Given the description of an element on the screen output the (x, y) to click on. 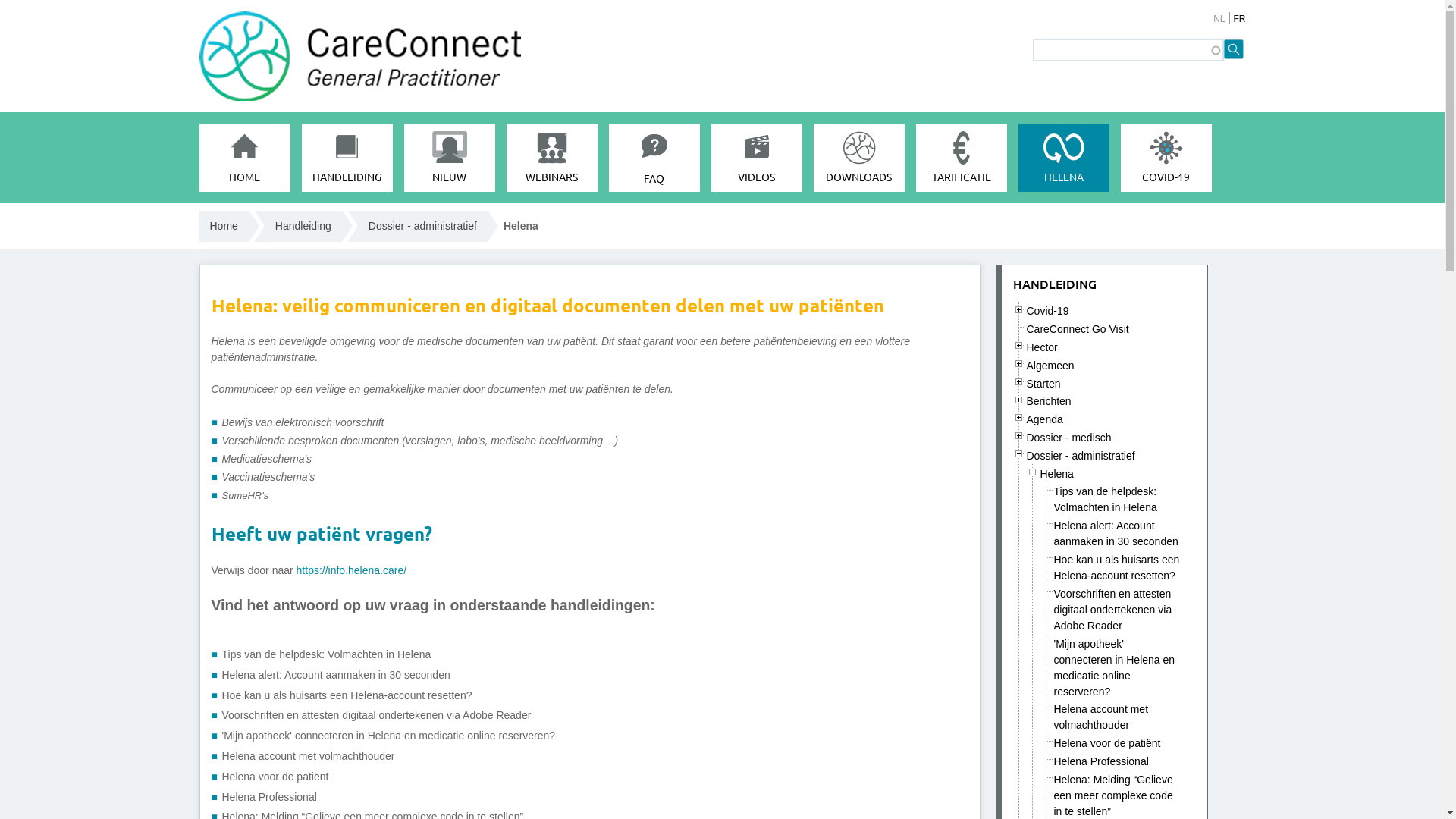
Agenda Element type: text (1044, 419)
  Element type: text (1019, 381)
Tips van de helpdesk: Volmachten in Helena Element type: text (1105, 499)
Helena Professional Element type: text (1101, 761)
Helena Professional Element type: text (268, 796)
Skip to main content Element type: text (658, 0)
  Element type: text (1032, 472)
Toepassen Element type: text (1233, 49)
Home Element type: text (222, 225)
FAQ Element type: text (653, 157)
Algemeen Element type: text (1050, 365)
VIDEOS Element type: text (756, 157)
Berichten Element type: text (1048, 401)
  Element type: text (1019, 399)
CareConnect Go Visit Element type: text (1077, 329)
TARIFICATIE Element type: text (961, 157)
Helena account met volmachthouder Element type: text (1101, 716)
HANDLEIDING Element type: text (1054, 283)
Helena Element type: text (1056, 473)
  Element type: text (1019, 363)
Starten Element type: text (1043, 383)
Dossier - administratief Element type: text (422, 225)
HANDLEIDING Element type: text (346, 157)
Tips van de helpdesk: Volmachten in Helena Element type: text (325, 654)
WEBINARS Element type: text (551, 157)
Hoe kan u als huisarts een Helena-account resetten? Element type: text (346, 695)
  Element type: text (1019, 417)
HOME Element type: text (243, 157)
Hoe kan u als huisarts een Helena-account resetten? Element type: text (1116, 567)
NL Element type: text (1218, 18)
Helena alert: Account aanmaken in 30 seconden Element type: text (335, 674)
https://info.helena.care/ Element type: text (351, 570)
  Element type: text (1019, 309)
  Element type: text (1019, 453)
Hector Element type: text (1041, 347)
COVID-19 Element type: text (1165, 157)
Dossier - administratief Element type: text (1080, 455)
FR Element type: text (1239, 18)
DOWNLOADS Element type: text (857, 157)
NIEUW Element type: text (448, 157)
Helena alert: Account aanmaken in 30 seconden Element type: text (1116, 533)
  Element type: text (1019, 345)
Covid-19 Element type: text (1047, 310)
  Element type: text (1019, 435)
CareConnect Element type: text (206, 253)
Helena account met volmachthouder Element type: text (307, 755)
HELENA Element type: text (1062, 157)
Handleiding Element type: text (303, 225)
Dossier - medisch Element type: text (1068, 437)
